Given the description of an element on the screen output the (x, y) to click on. 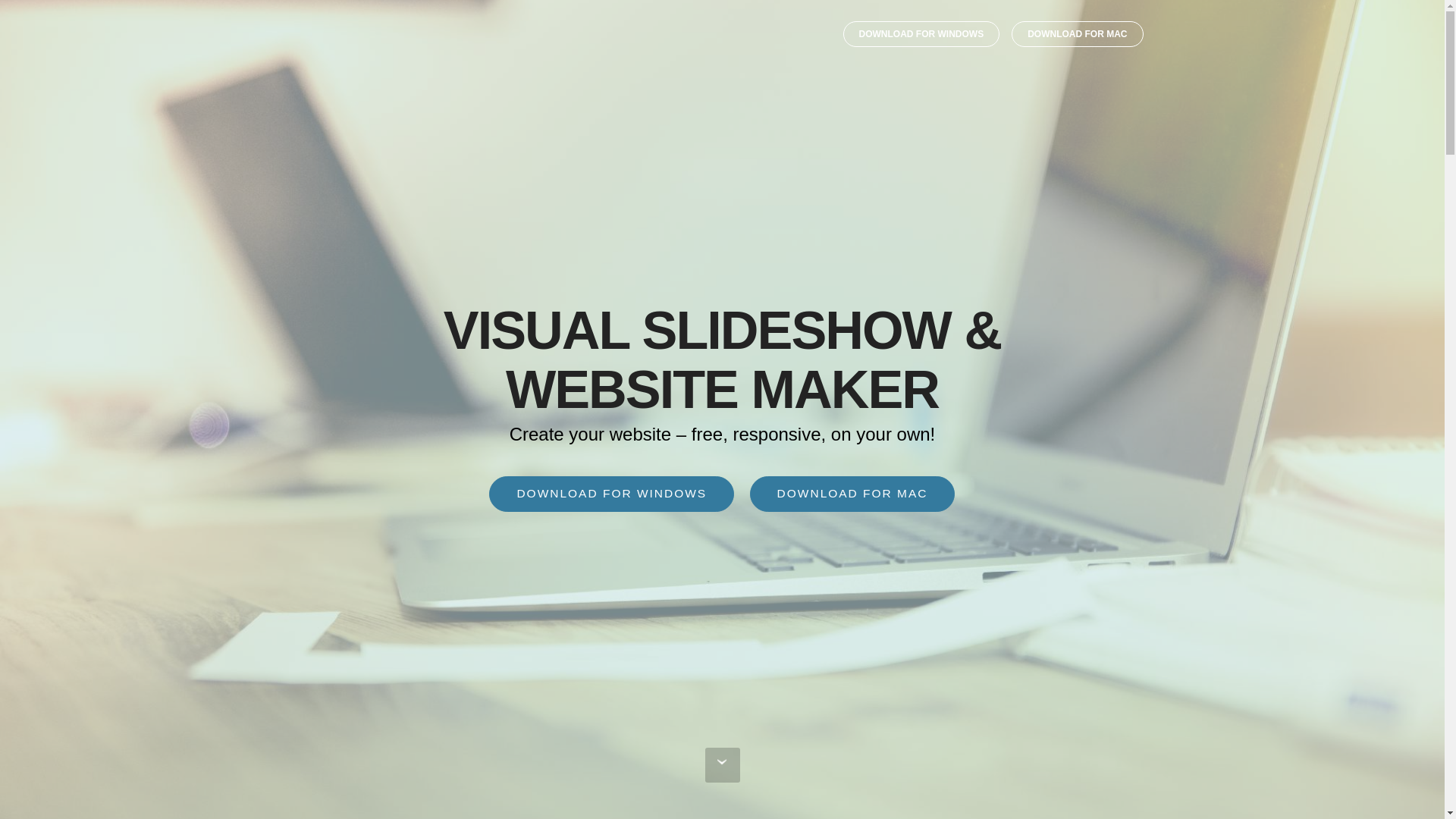
DOWNLOAD FOR WINDOWS (611, 493)
DOWNLOAD FOR MAC (1076, 33)
DOWNLOAD FOR WINDOWS (921, 33)
DOWNLOAD FOR MAC (852, 493)
